Given the description of an element on the screen output the (x, y) to click on. 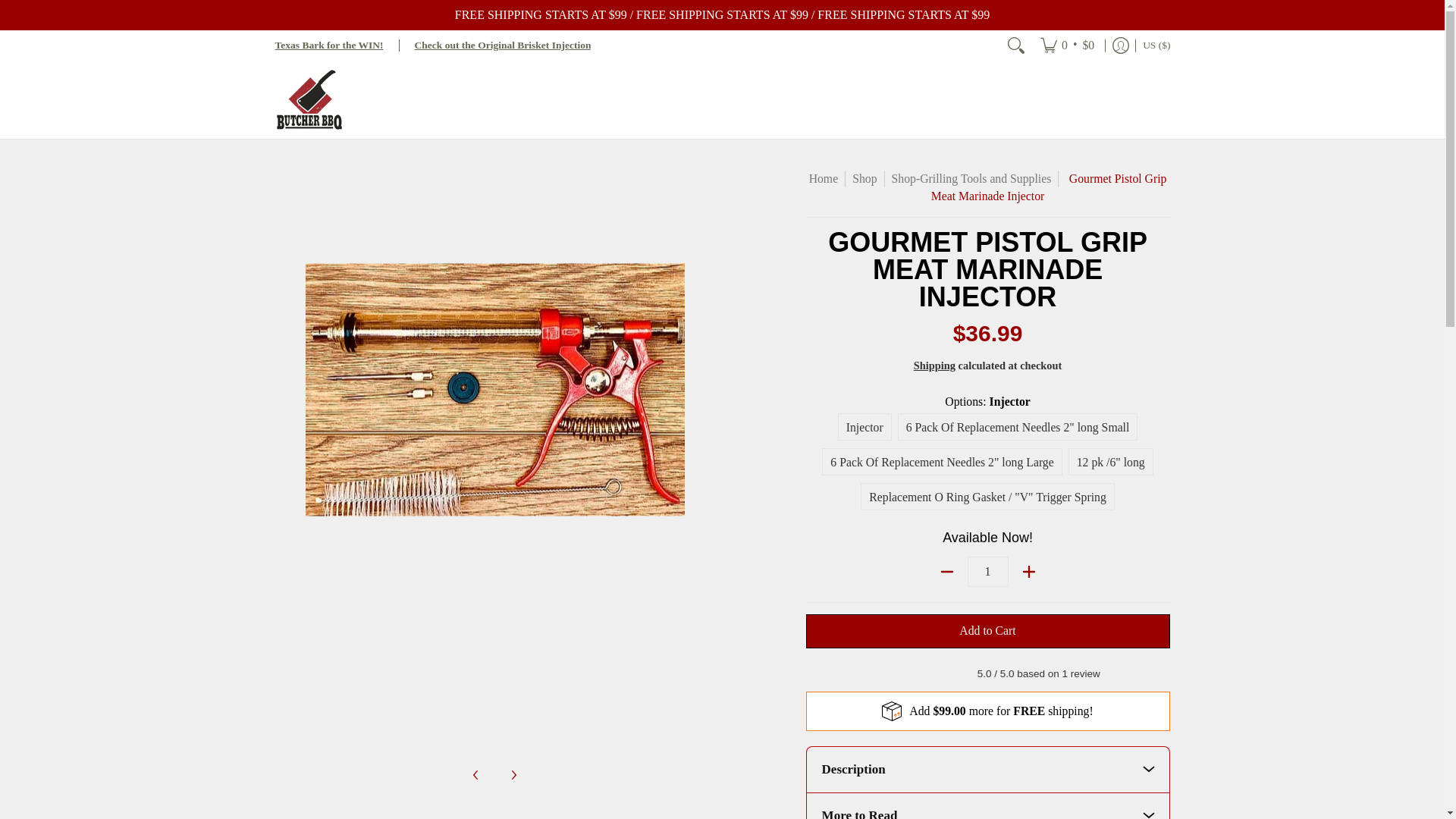
Cart (1067, 45)
Log in (1120, 45)
Texas Bark for the WIN! (328, 44)
6 Pack Of Replacement Needles 2" long Small (1018, 426)
Original Brisket Injection Marinade (502, 44)
1 (988, 571)
Check out the Original Brisket Injection (502, 44)
Injector (864, 426)
Texas Bark - SPG (328, 44)
6 Pack Of Replacement Needles 2" long Large (941, 461)
